Given the description of an element on the screen output the (x, y) to click on. 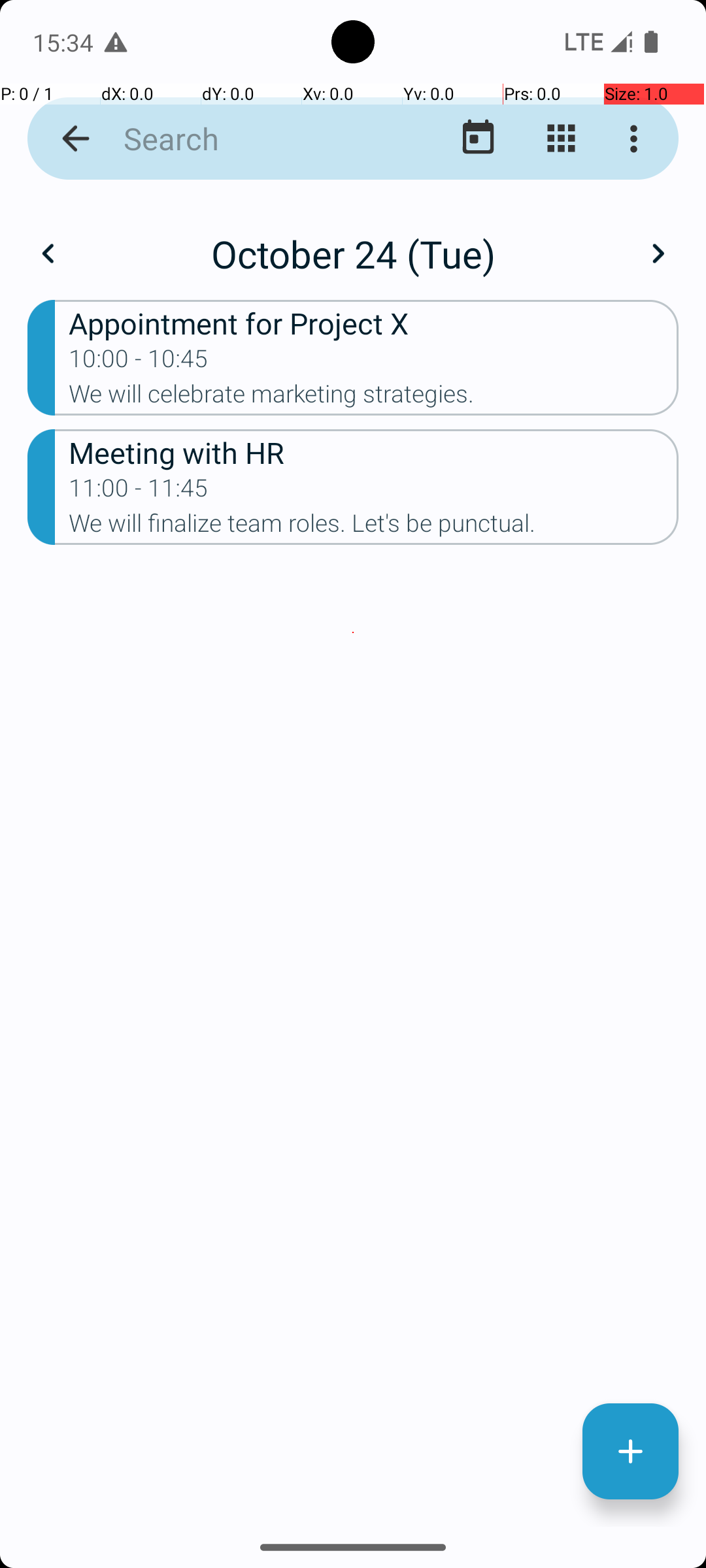
October 24 (Tue) Element type: android.widget.TextView (352, 253)
Appointment for Project X Element type: android.widget.TextView (373, 321)
10:00 - 10:45 Element type: android.widget.TextView (137, 362)
We will celebrate marketing strategies. Element type: android.widget.TextView (373, 397)
Meeting with HR Element type: android.widget.TextView (373, 451)
11:00 - 11:45 Element type: android.widget.TextView (137, 491)
We will finalize team roles. Let's be punctual. Element type: android.widget.TextView (373, 526)
